Given the description of an element on the screen output the (x, y) to click on. 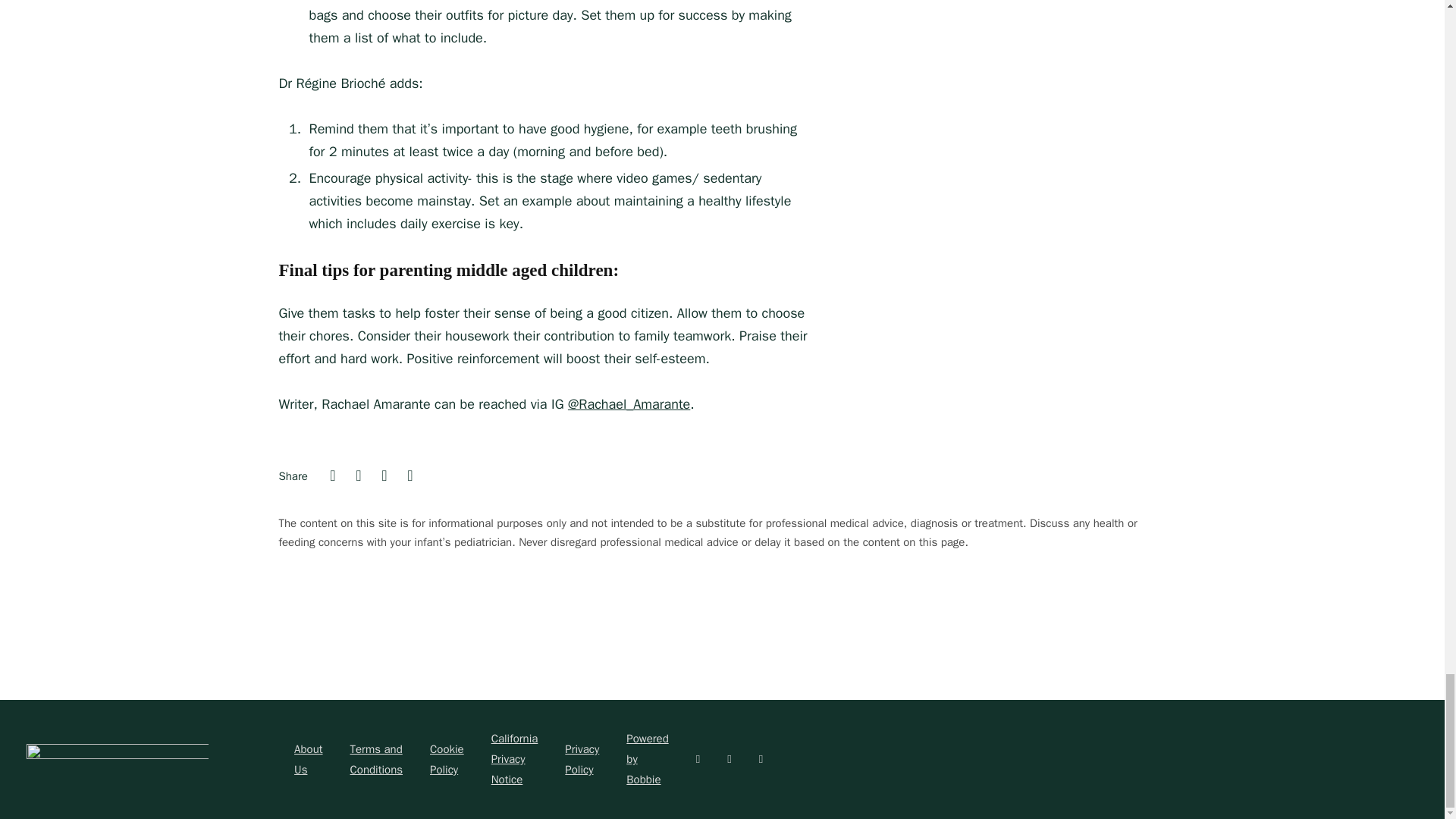
Pinterest (384, 476)
Twitter (358, 476)
Facebook (332, 476)
Email (410, 476)
